Given the description of an element on the screen output the (x, y) to click on. 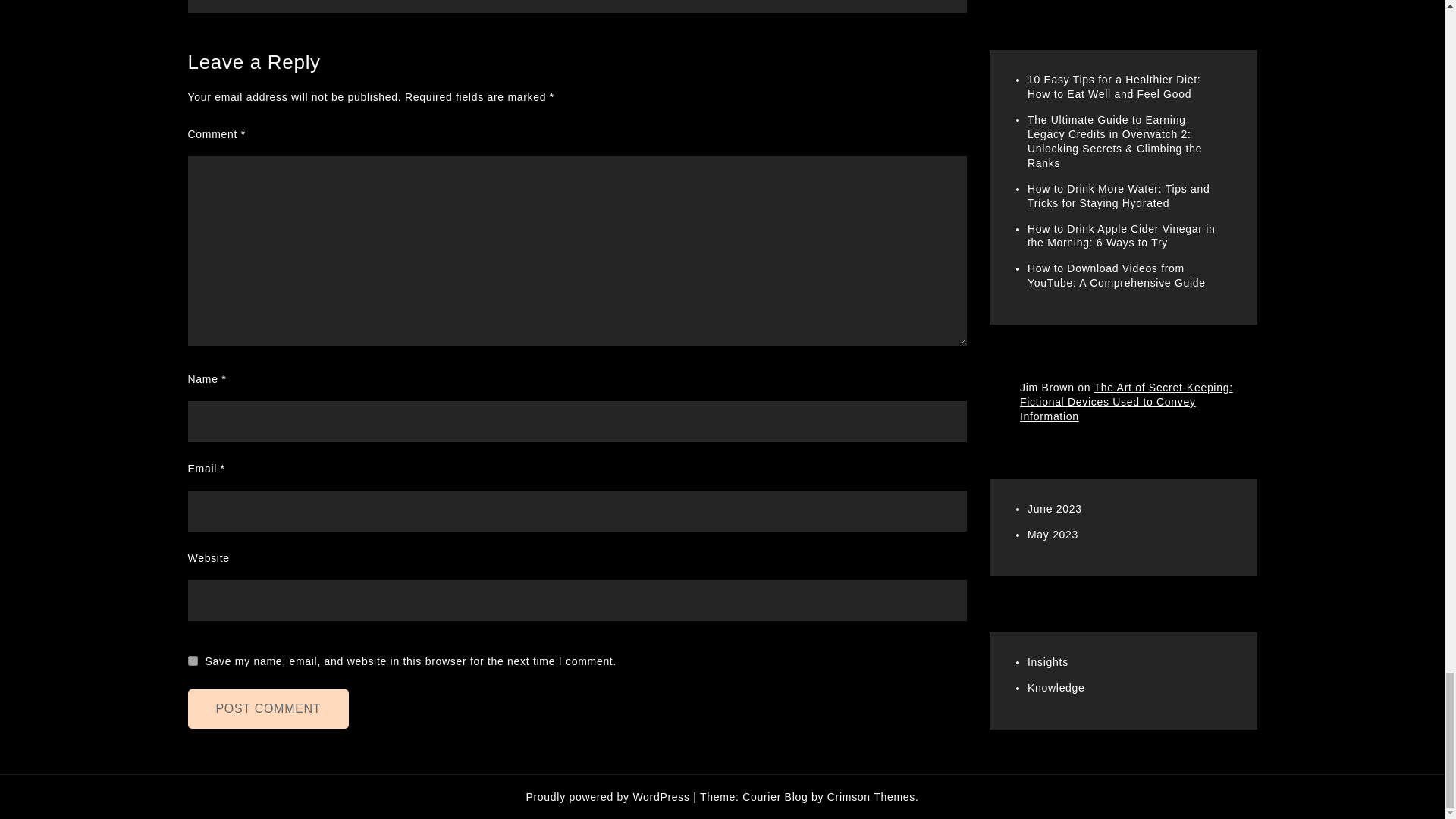
Post Comment (268, 708)
yes (192, 660)
Post Comment (268, 708)
